Given the description of an element on the screen output the (x, y) to click on. 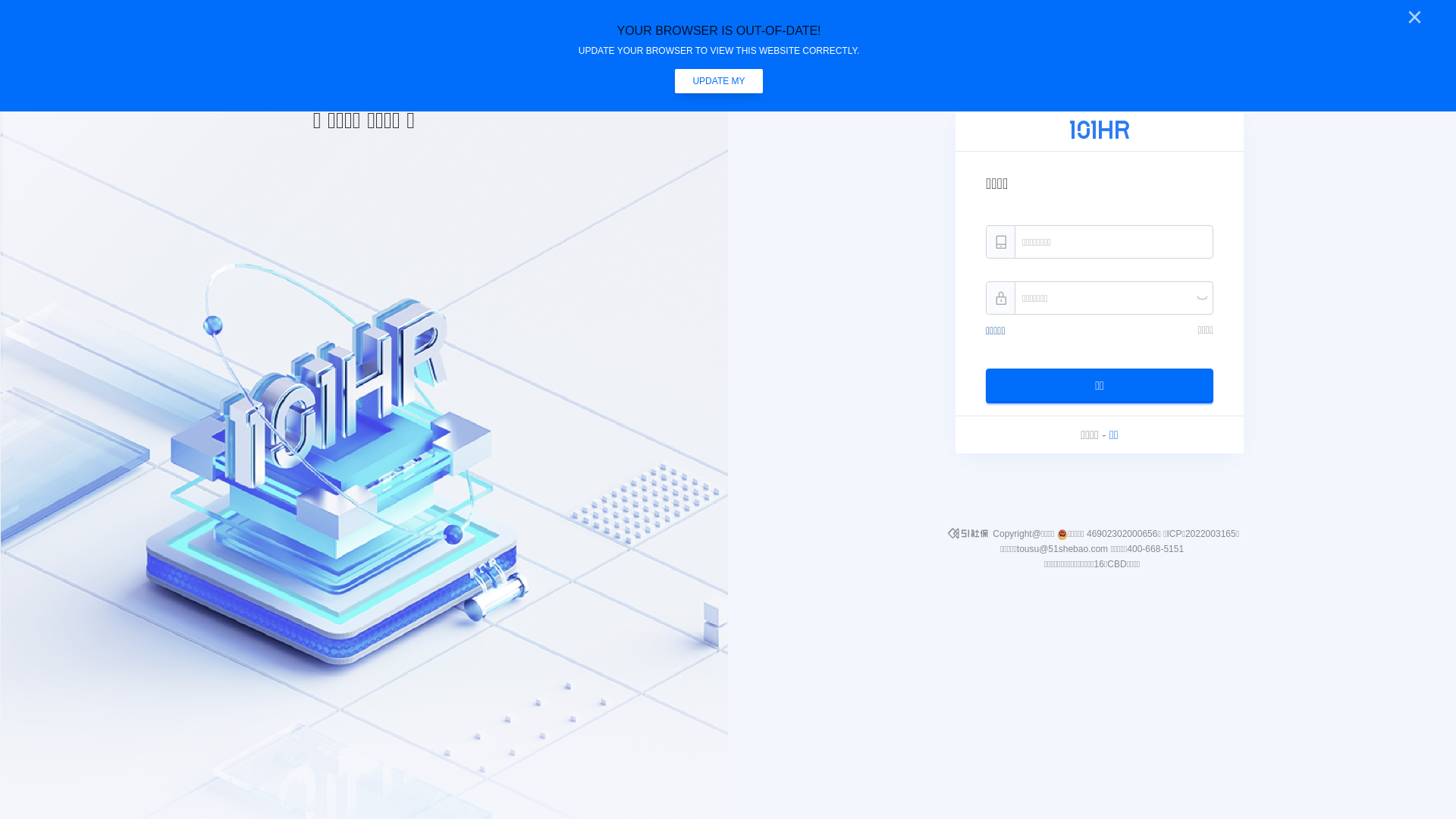
UPDATE MY BROWSER NOW Element type: text (718, 81)
